Given the description of an element on the screen output the (x, y) to click on. 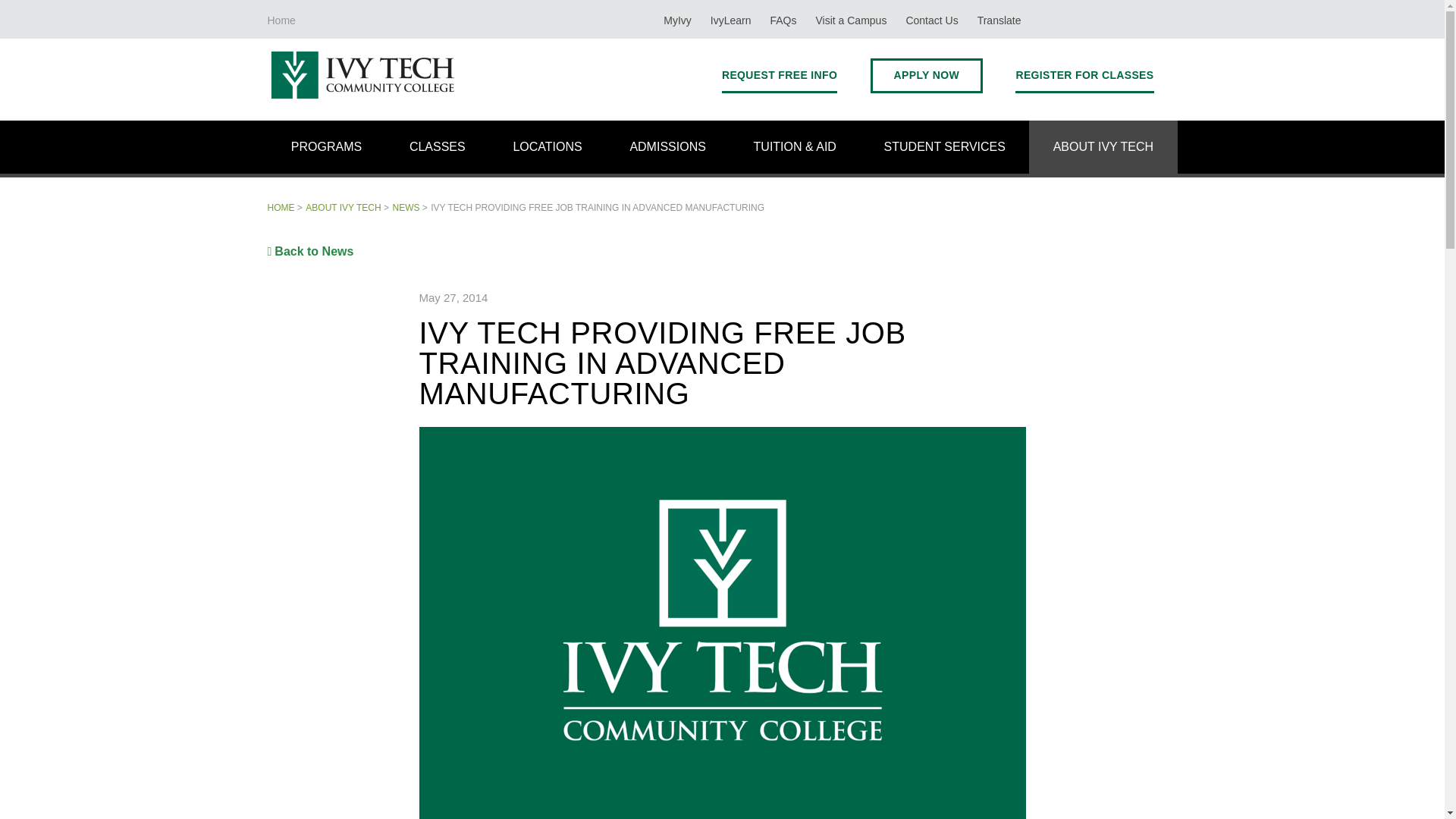
Translate (999, 19)
IvyLearn (730, 19)
MyIvy (676, 19)
Visit a Campus (851, 19)
Translate (999, 19)
APPLY NOW (926, 75)
REGISTER FOR CLASSES (1083, 75)
FAQs (782, 19)
REQUEST FREE INFO (779, 75)
